Given the description of an element on the screen output the (x, y) to click on. 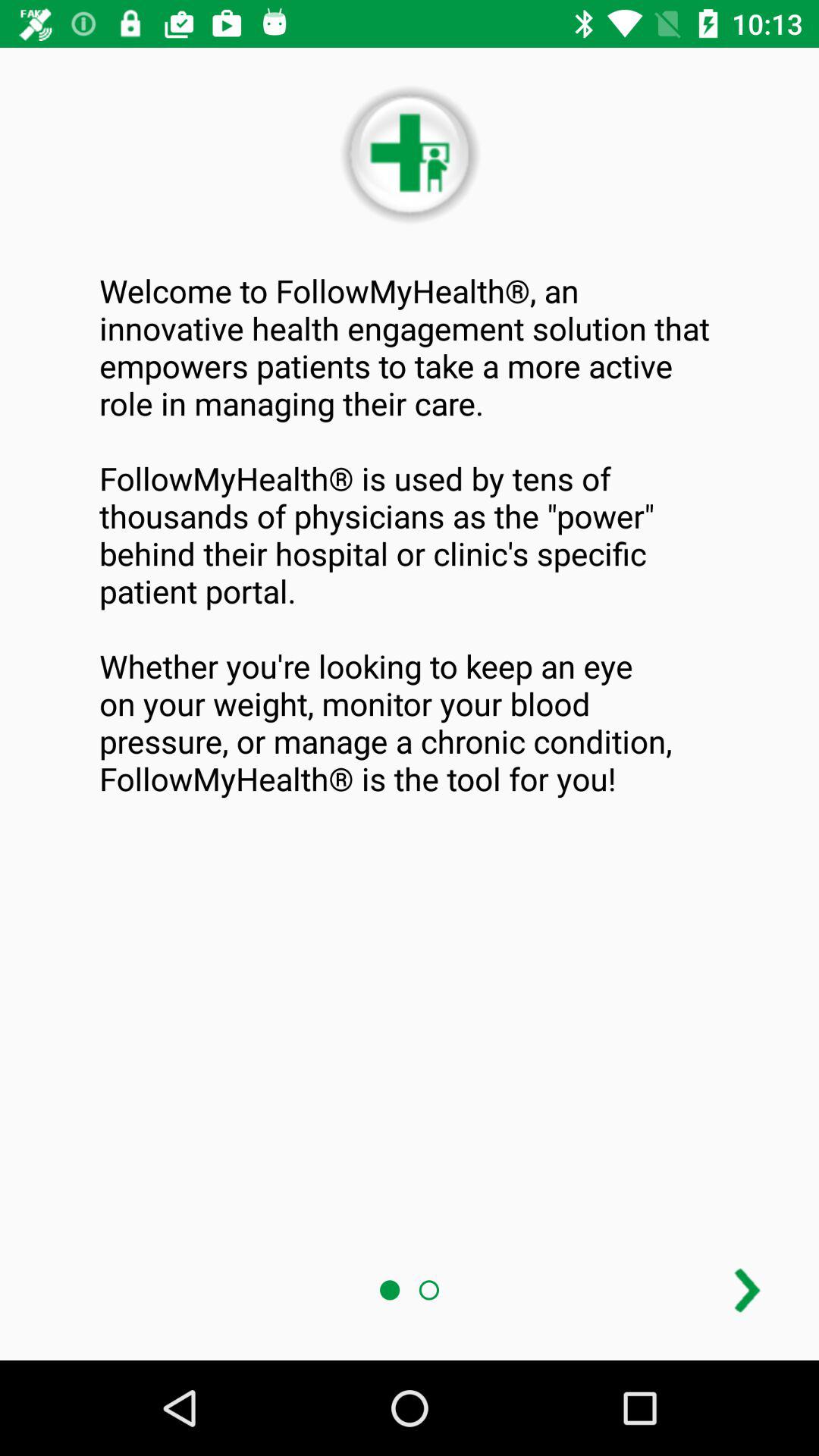
next page (747, 1290)
